Given the description of an element on the screen output the (x, y) to click on. 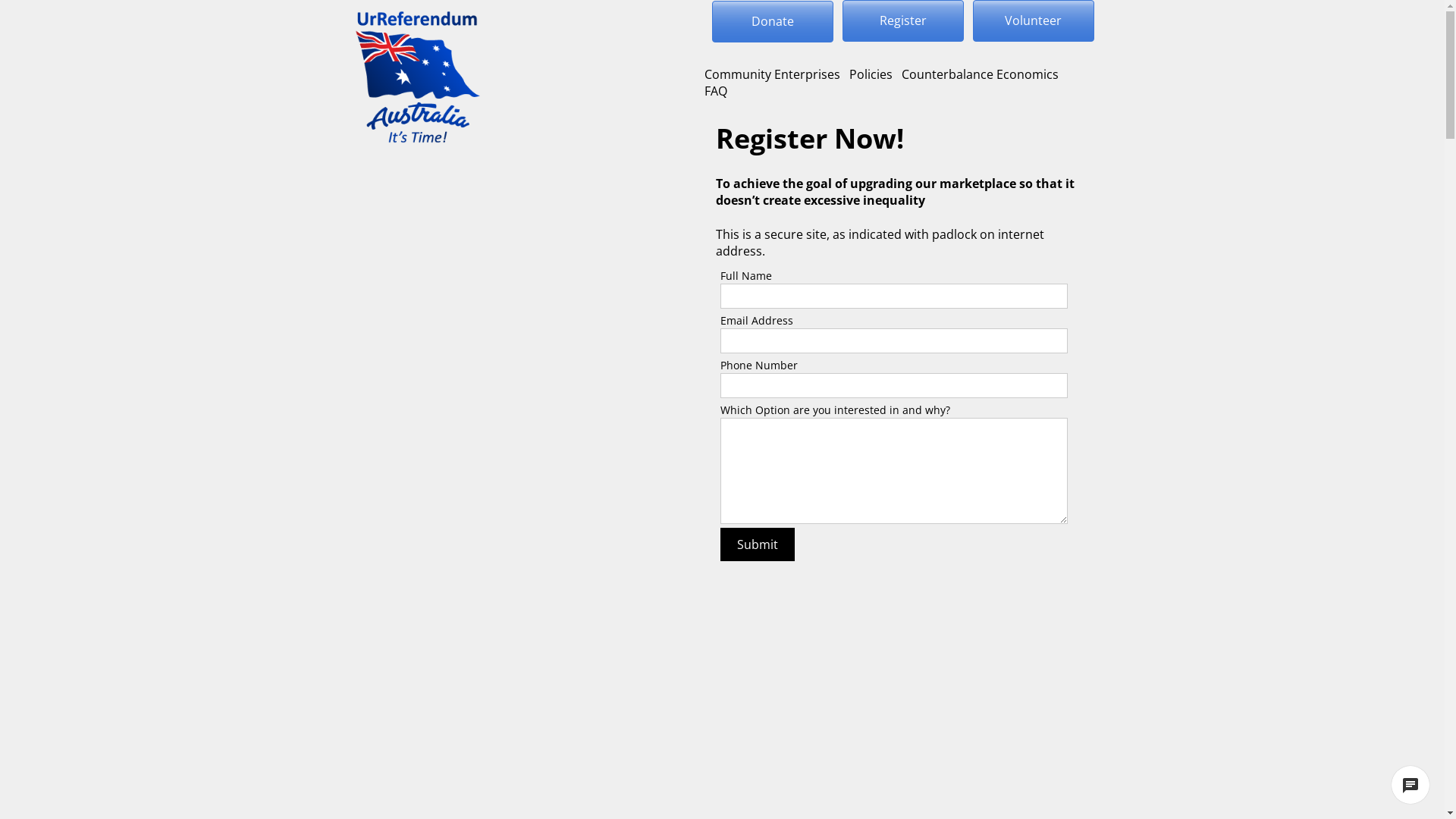
Register Element type: text (902, 20)
Policies Element type: text (870, 73)
FAQ Element type: text (714, 90)
Counterbalance Economics Element type: text (978, 73)
Donate Element type: text (771, 21)
Volunteer Element type: text (1032, 20)
Community Enterprises Element type: text (771, 73)
Submit Element type: text (757, 544)
